Given the description of an element on the screen output the (x, y) to click on. 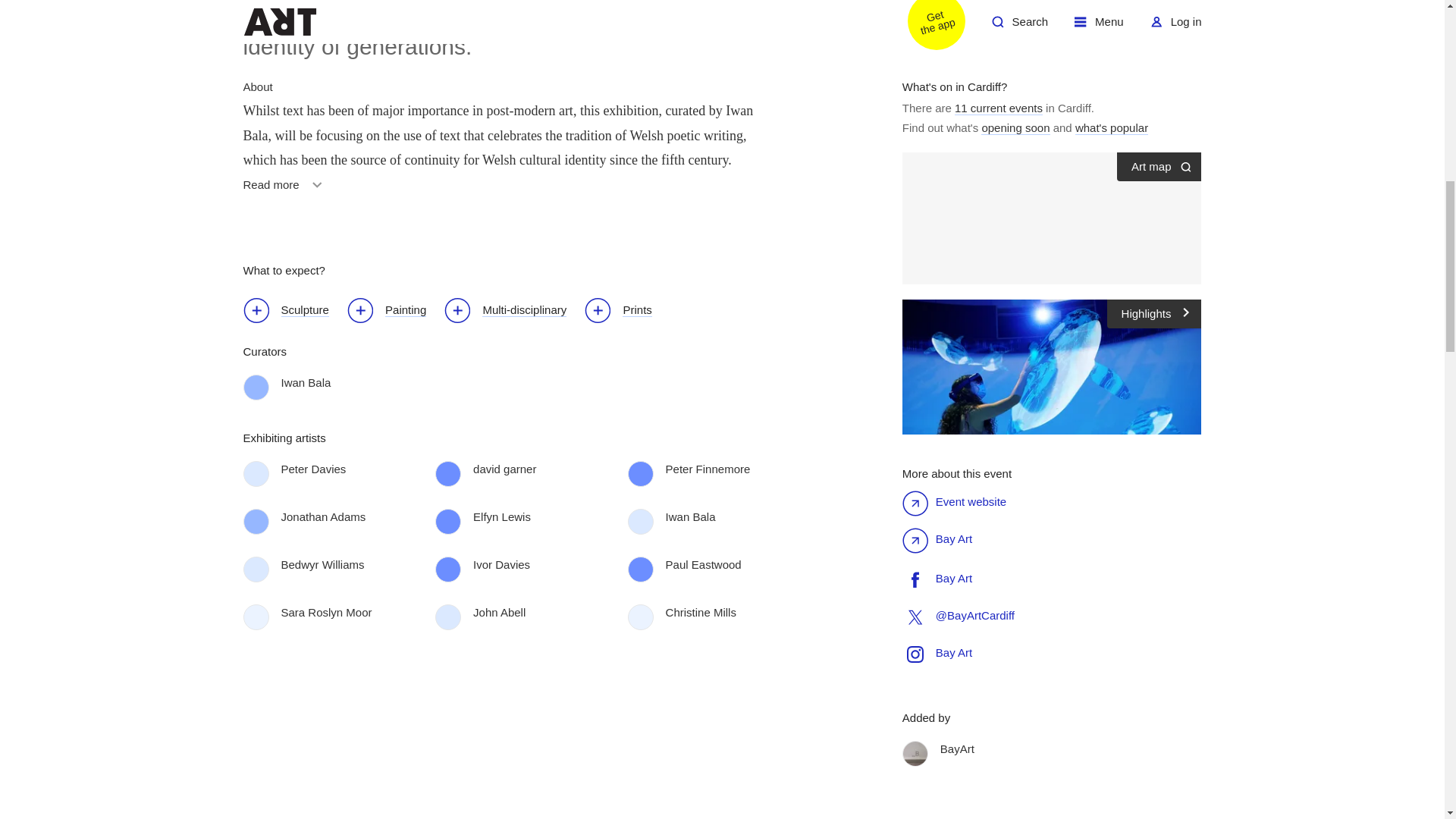
Sculpture (286, 190)
